Given the description of an element on the screen output the (x, y) to click on. 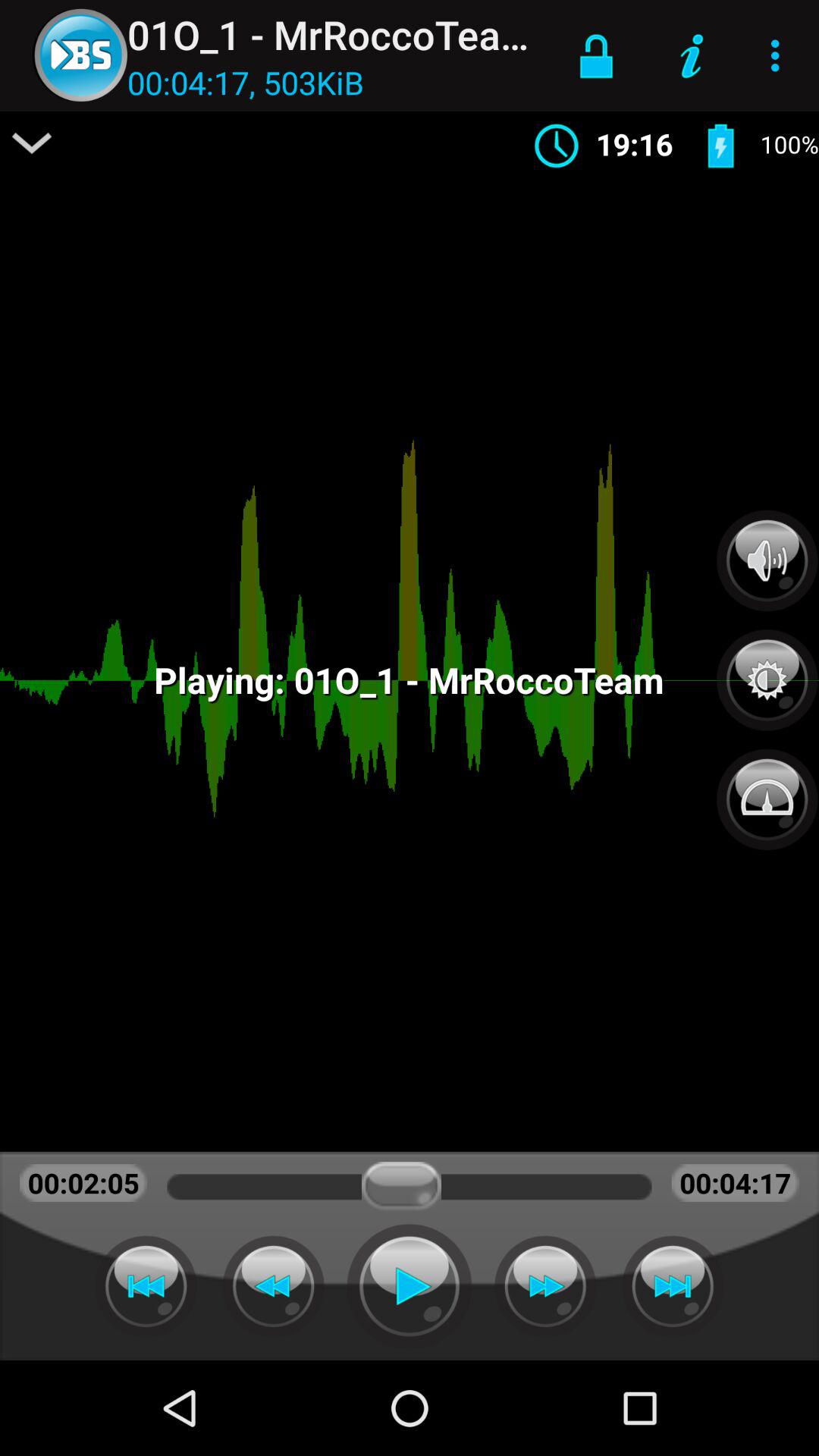
go back some in the song (273, 1286)
